Given the description of an element on the screen output the (x, y) to click on. 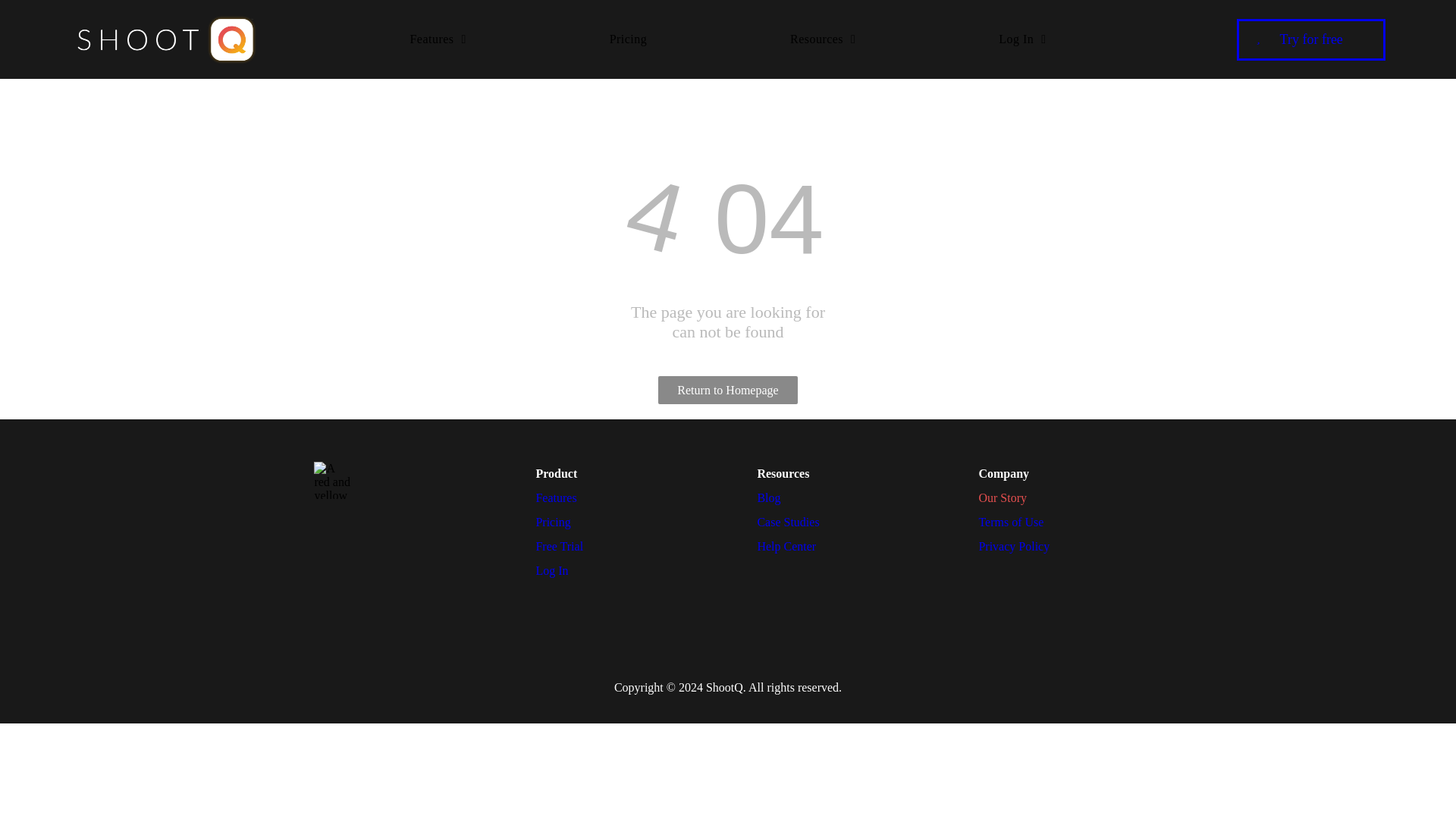
Pricing (628, 38)
Log In (1022, 38)
Features (437, 38)
Try for free (1311, 39)
Resources (822, 38)
